Given the description of an element on the screen output the (x, y) to click on. 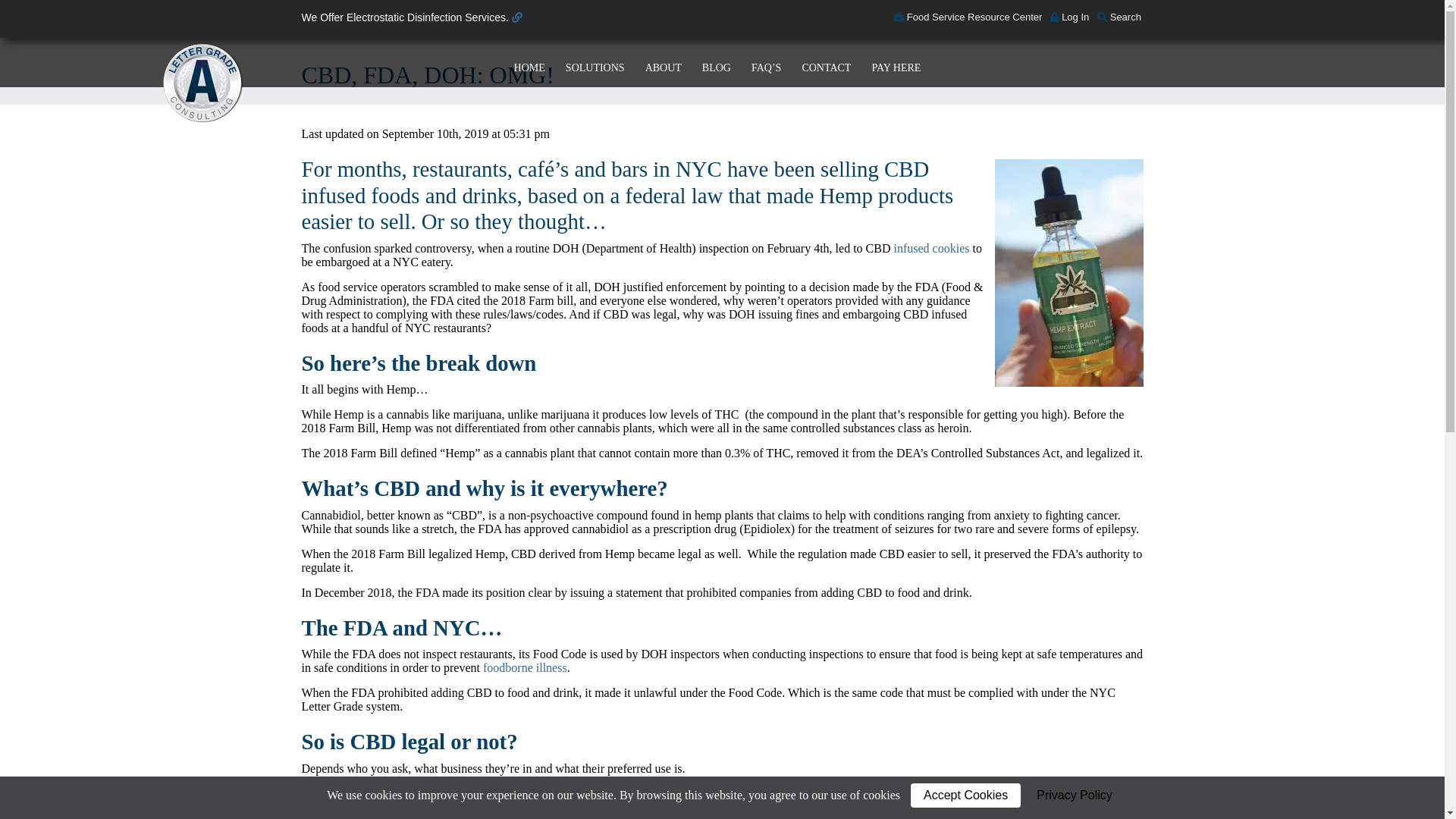
BLOG (719, 61)
Log In (1069, 16)
We Offer Electrostatic Disinfection Services. (411, 17)
Food Service Resource Center (967, 16)
Letter Grade Consulting (202, 84)
infused cookies (931, 247)
ABOUT (667, 61)
CONTACT (829, 61)
HOME (533, 61)
PAY HERE (899, 61)
SOLUTIONS (598, 61)
foodborne illness (525, 667)
Letter Grade Consulting (202, 84)
Search (1118, 16)
